Given the description of an element on the screen output the (x, y) to click on. 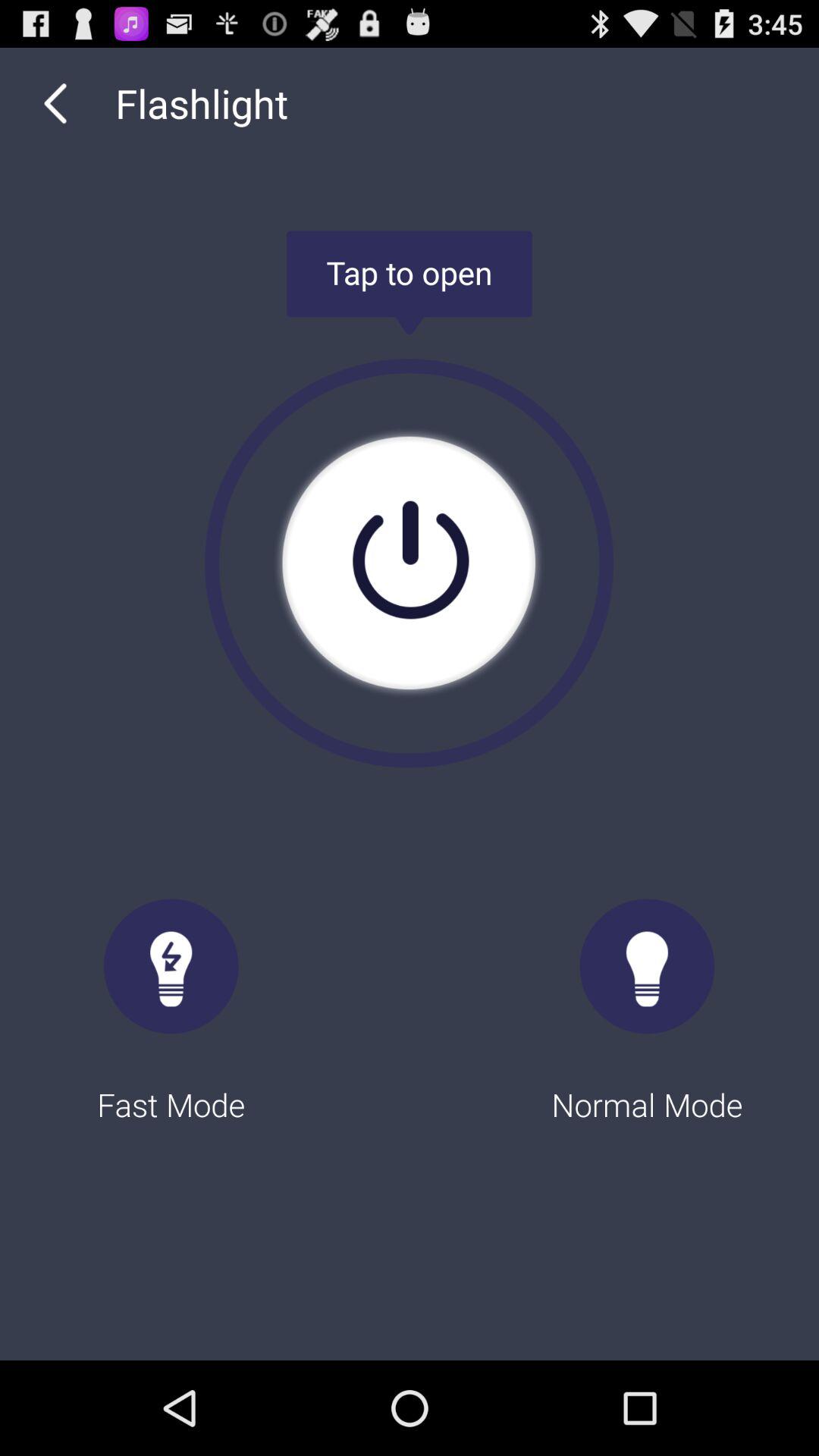
turn off the item above fast mode icon (408, 562)
